Given the description of an element on the screen output the (x, y) to click on. 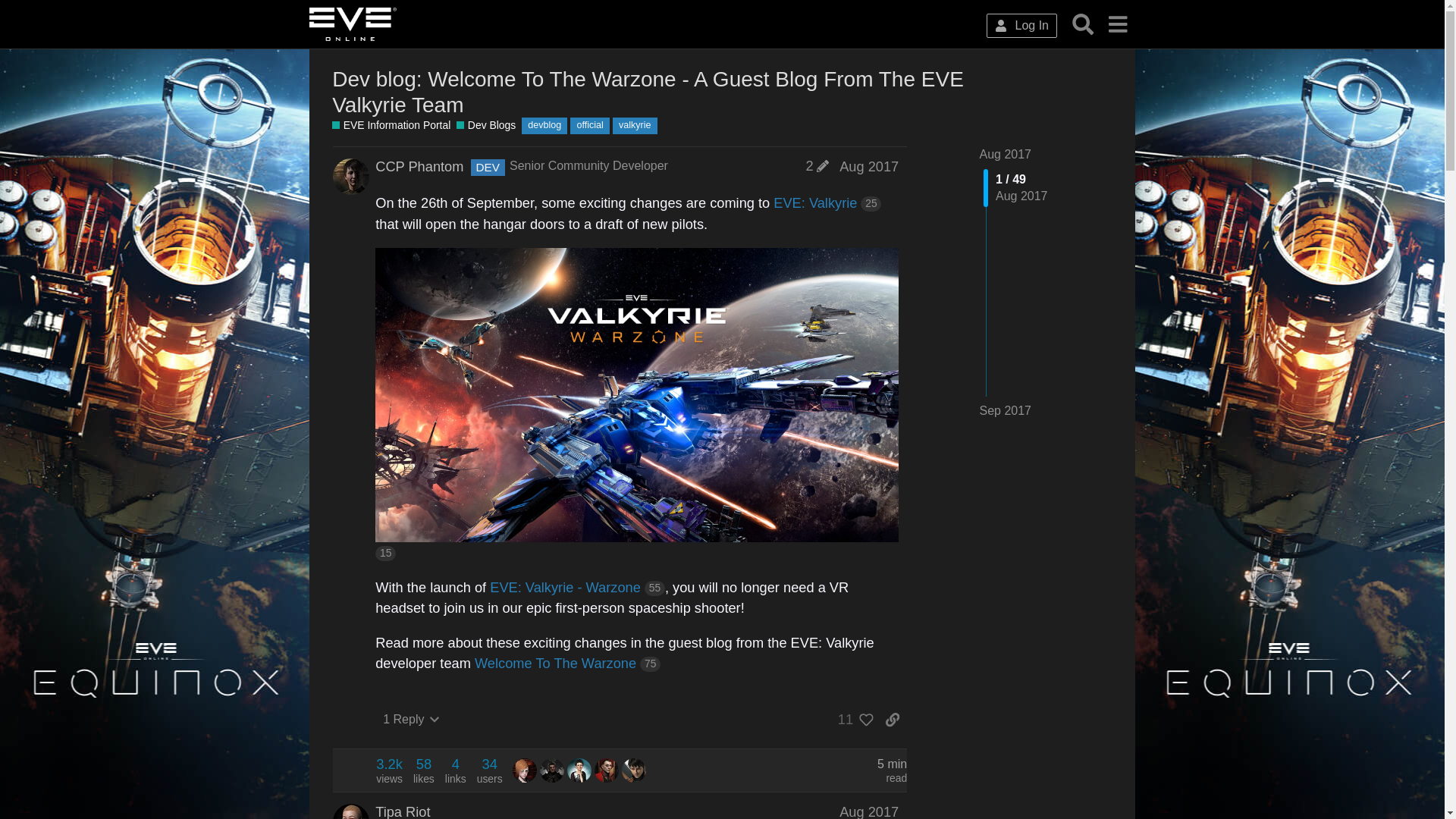
15 (636, 472)
Jump to the last post (1005, 410)
11 people liked this post (851, 719)
11 (851, 719)
Post date (869, 166)
Aug 2017 (1005, 154)
Tipa Riot (402, 810)
menu (1117, 23)
CCP Phantom (419, 166)
